Given the description of an element on the screen output the (x, y) to click on. 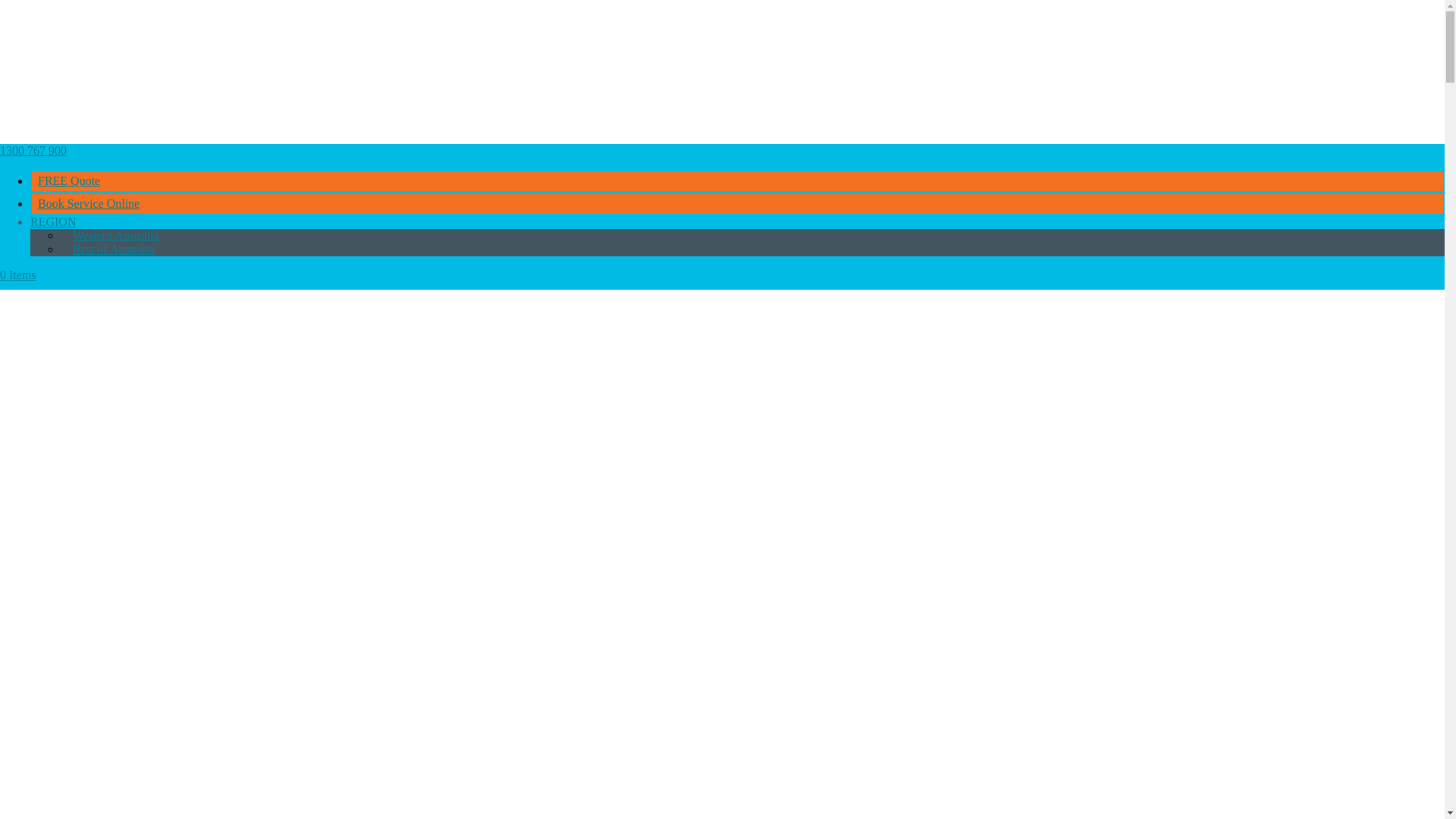
Book Service Online (88, 203)
REGION (52, 221)
Western Australia (115, 235)
1300 767 900 (33, 150)
Rest of Australia (113, 248)
FREE Quote (68, 180)
0 Items (18, 274)
